Given the description of an element on the screen output the (x, y) to click on. 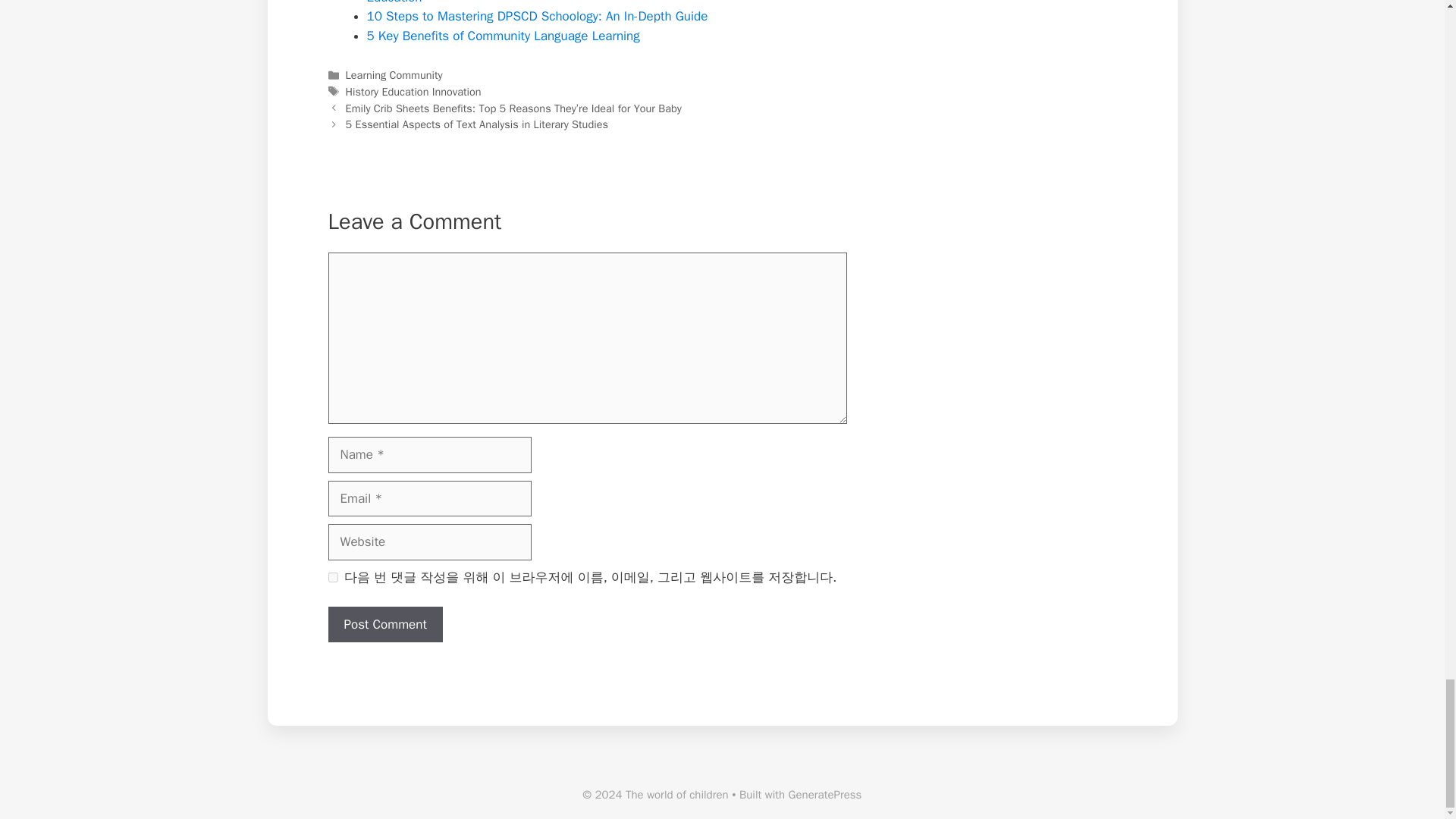
yes (332, 577)
10 Steps to Mastering DPSCD Schoology: An In-Depth Guide (536, 16)
Post Comment (384, 624)
